Given the description of an element on the screen output the (x, y) to click on. 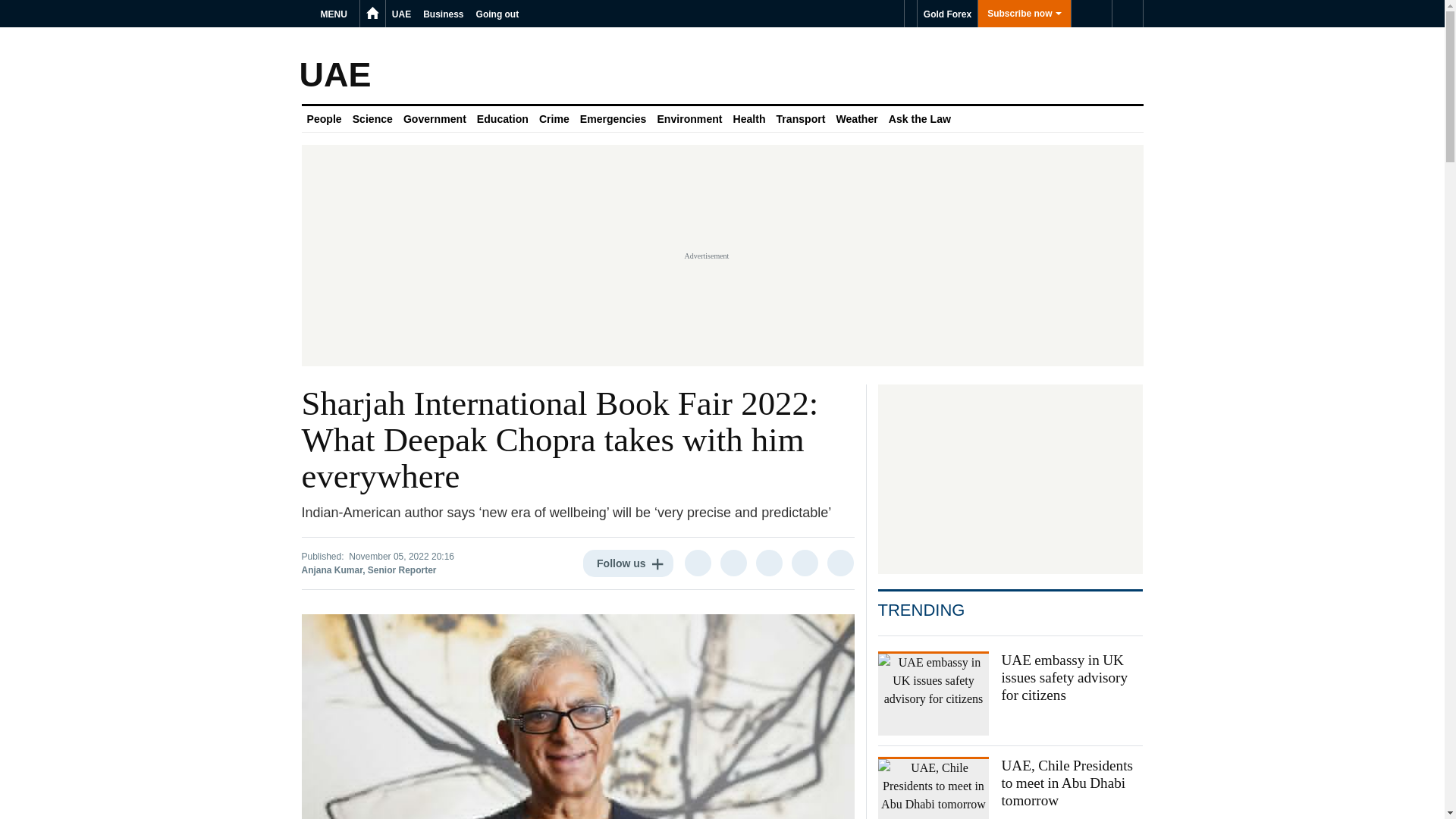
UAE (400, 13)
Subscribe now (1024, 13)
Going out (497, 13)
Gold Forex (946, 13)
MENU (336, 13)
Business (442, 13)
